Given the description of an element on the screen output the (x, y) to click on. 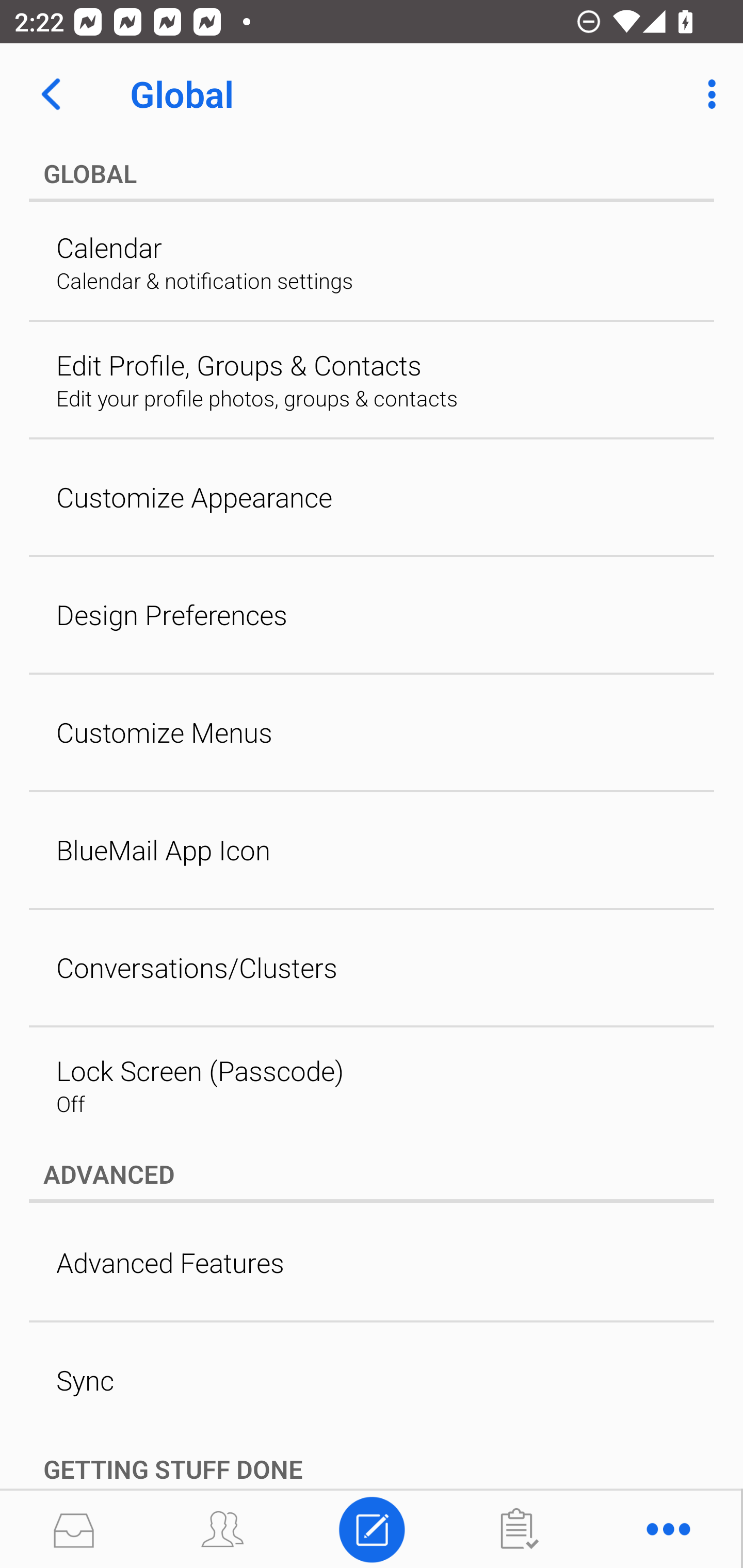
Navigate up (50, 93)
More Options (706, 93)
Calendar Calendar & notification settings (371, 261)
Customize Appearance (371, 497)
Design Preferences (371, 614)
Customize Menus (371, 732)
BlueMail App Icon (371, 849)
Conversations/Clusters (371, 967)
Lock Screen (Passcode) Off (371, 1085)
Advanced Features (371, 1262)
Sync (371, 1379)
